Given the description of an element on the screen output the (x, y) to click on. 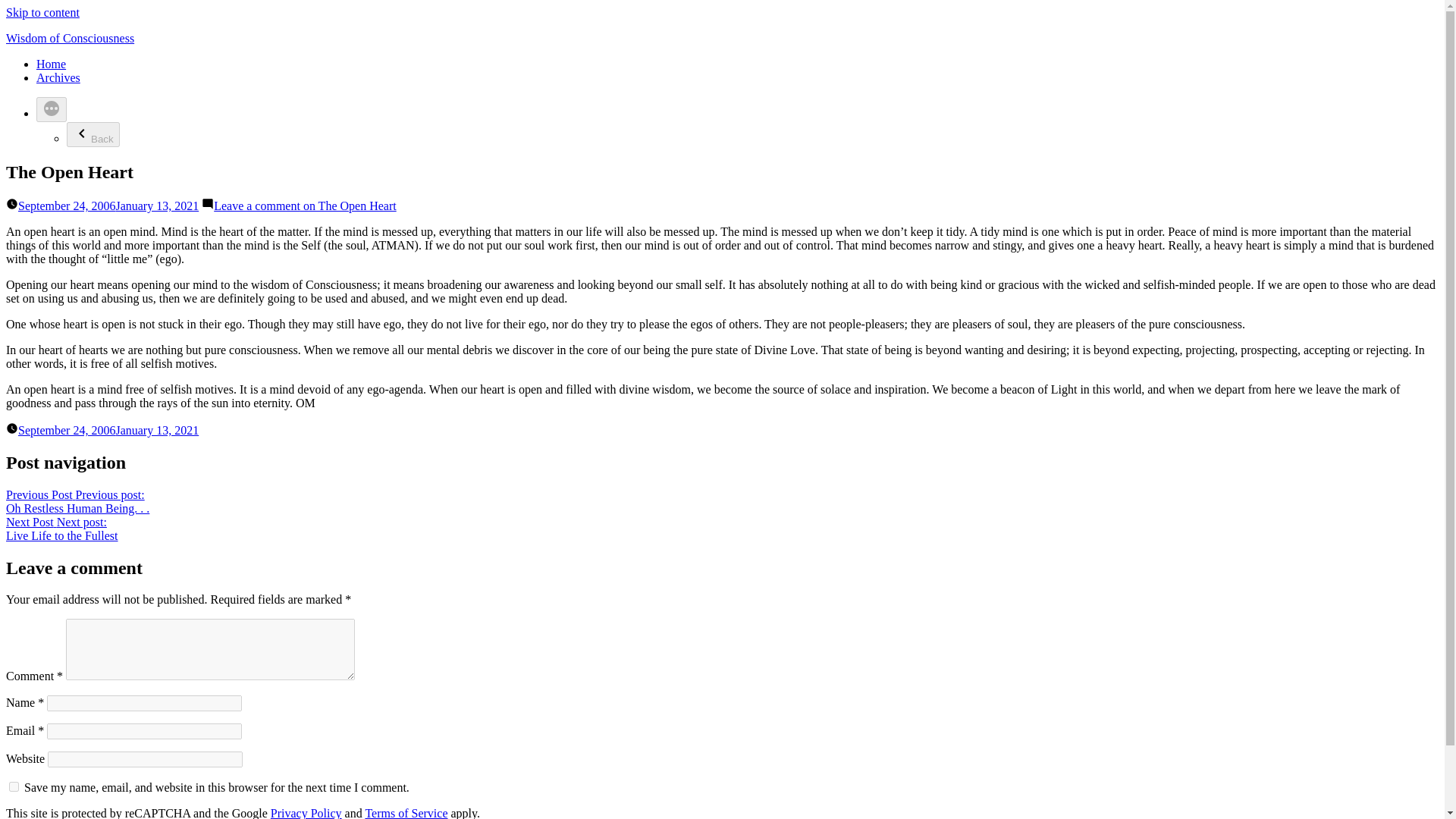
Archives (58, 77)
Leave a comment on The Open Heart (305, 205)
Wisdom of Consciousness (69, 38)
Terms of Service (405, 812)
Back (92, 134)
yes (13, 786)
Home (61, 528)
Skip to content (50, 63)
September 24, 2006January 13, 2021 (42, 11)
